Given the description of an element on the screen output the (x, y) to click on. 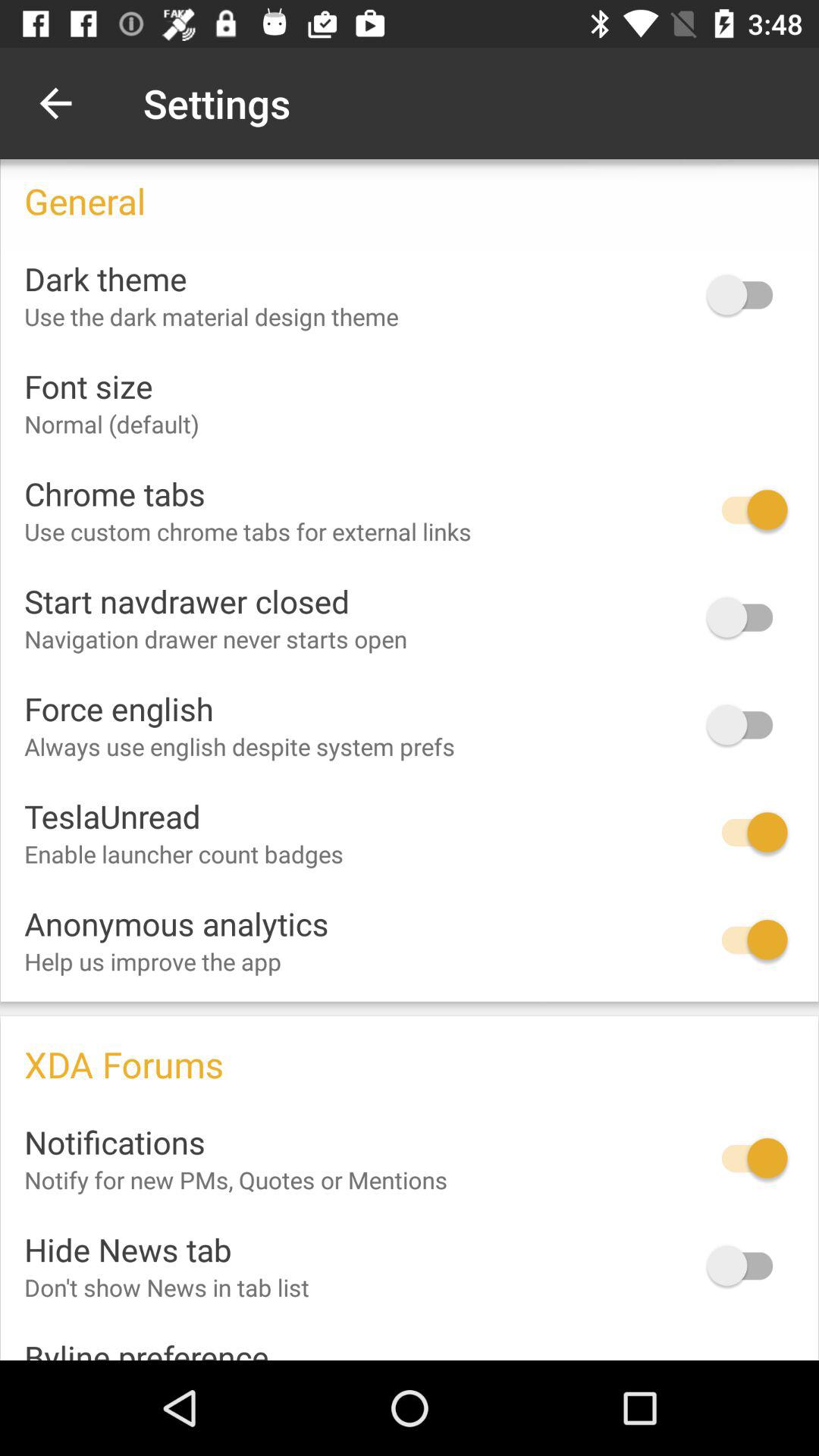
turn on navigation drawer (747, 617)
